Given the description of an element on the screen output the (x, y) to click on. 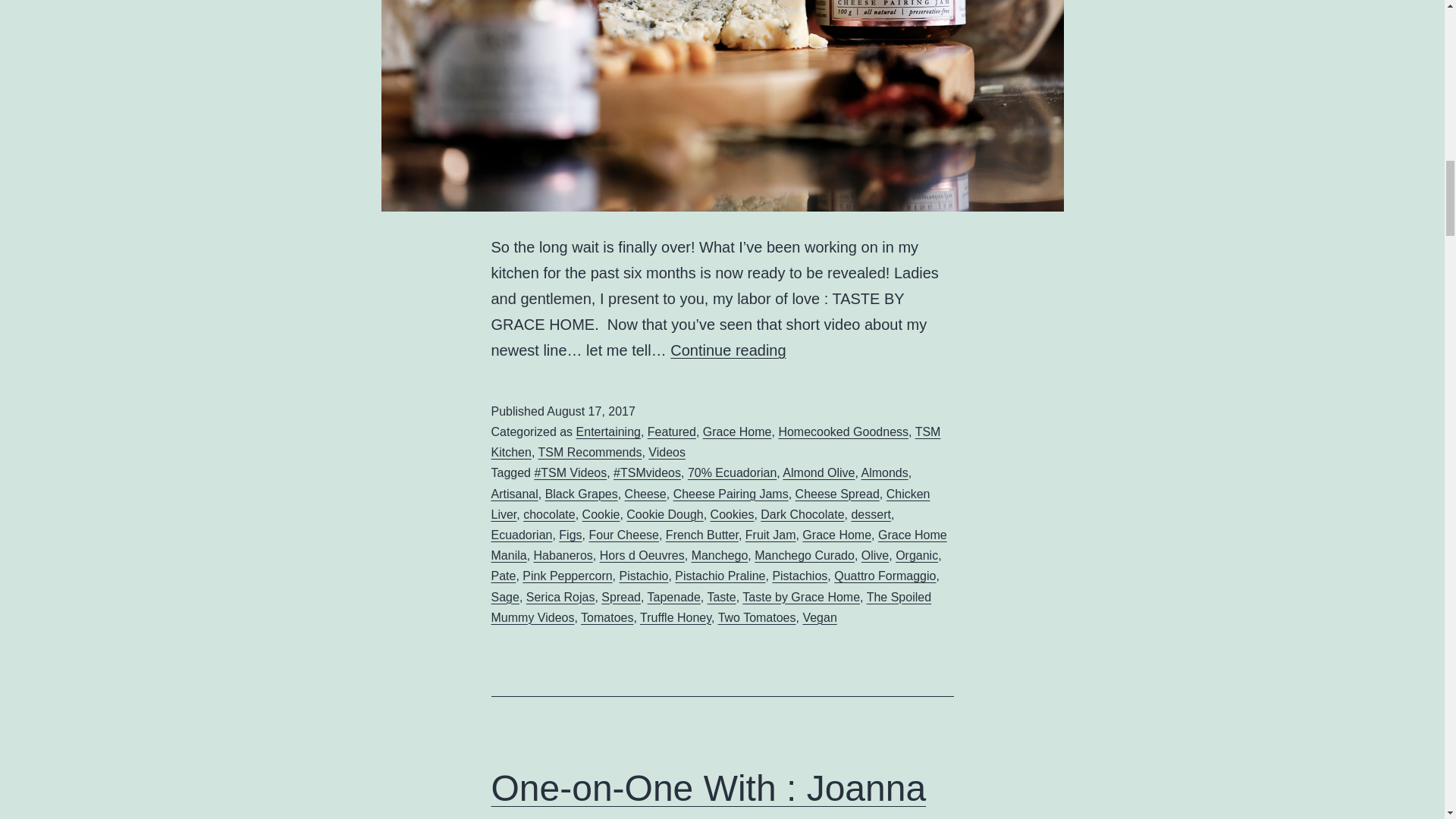
dessert (869, 513)
Cheese (645, 493)
chocolate (548, 513)
Black Grapes (580, 493)
Taste (720, 596)
Almonds (884, 472)
Manchego Curado (804, 554)
Cheese Spread (836, 493)
Sage (505, 596)
Artisanal (515, 493)
Videos (666, 451)
Pistachio (643, 575)
Cookie (601, 513)
Almond Olive (818, 472)
Homecooked Goodness (842, 431)
